Given the description of an element on the screen output the (x, y) to click on. 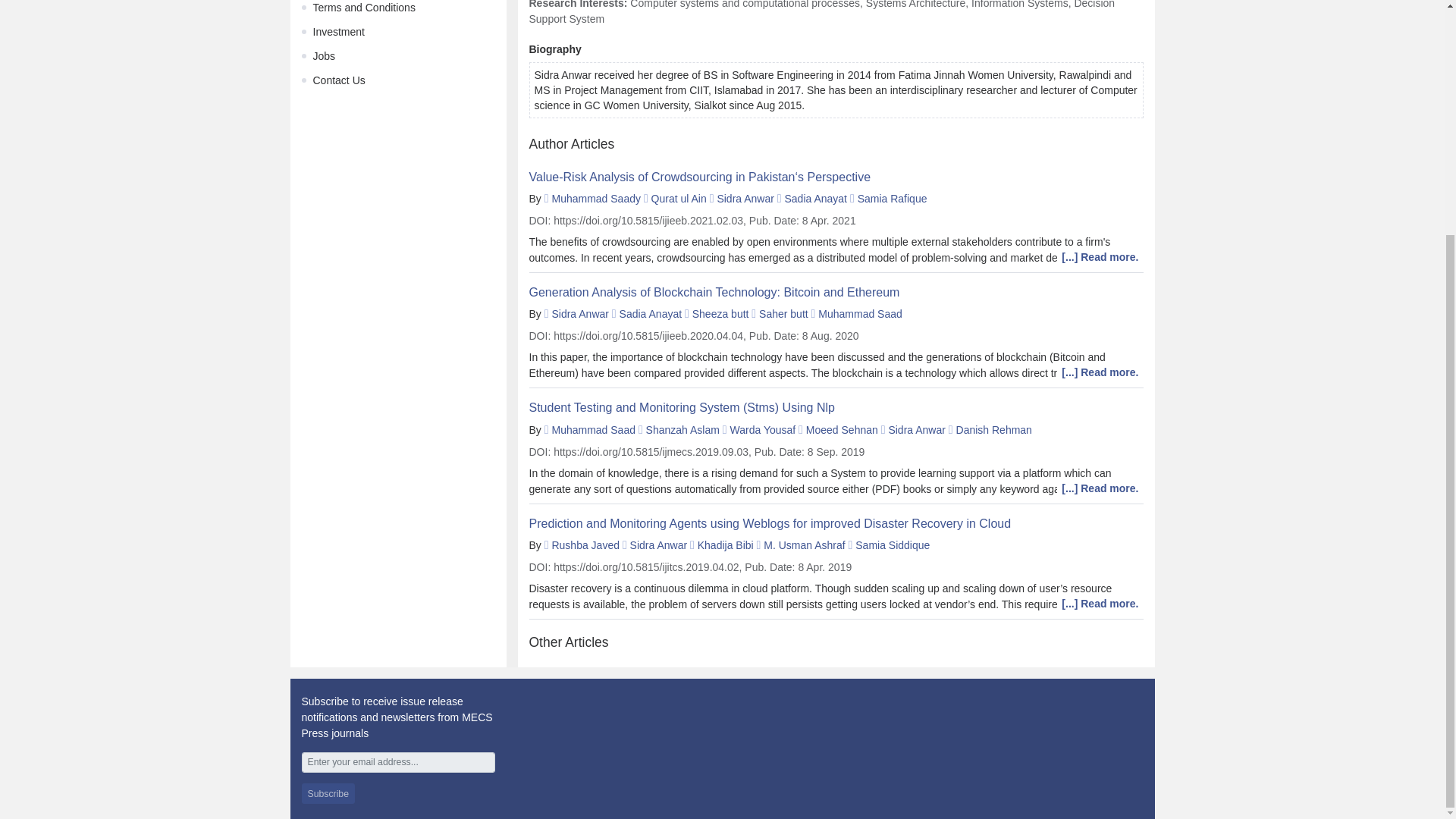
Sidra Anwar (744, 198)
Warda Yousaf (763, 429)
M. Usman Ashraf (803, 544)
Shanzah Aslam (682, 429)
Muhammad Saad (592, 429)
Khadija Bibi (725, 544)
Contact Us (339, 80)
Muhammad Saad (860, 313)
Danish Rehman (994, 429)
